Given the description of an element on the screen output the (x, y) to click on. 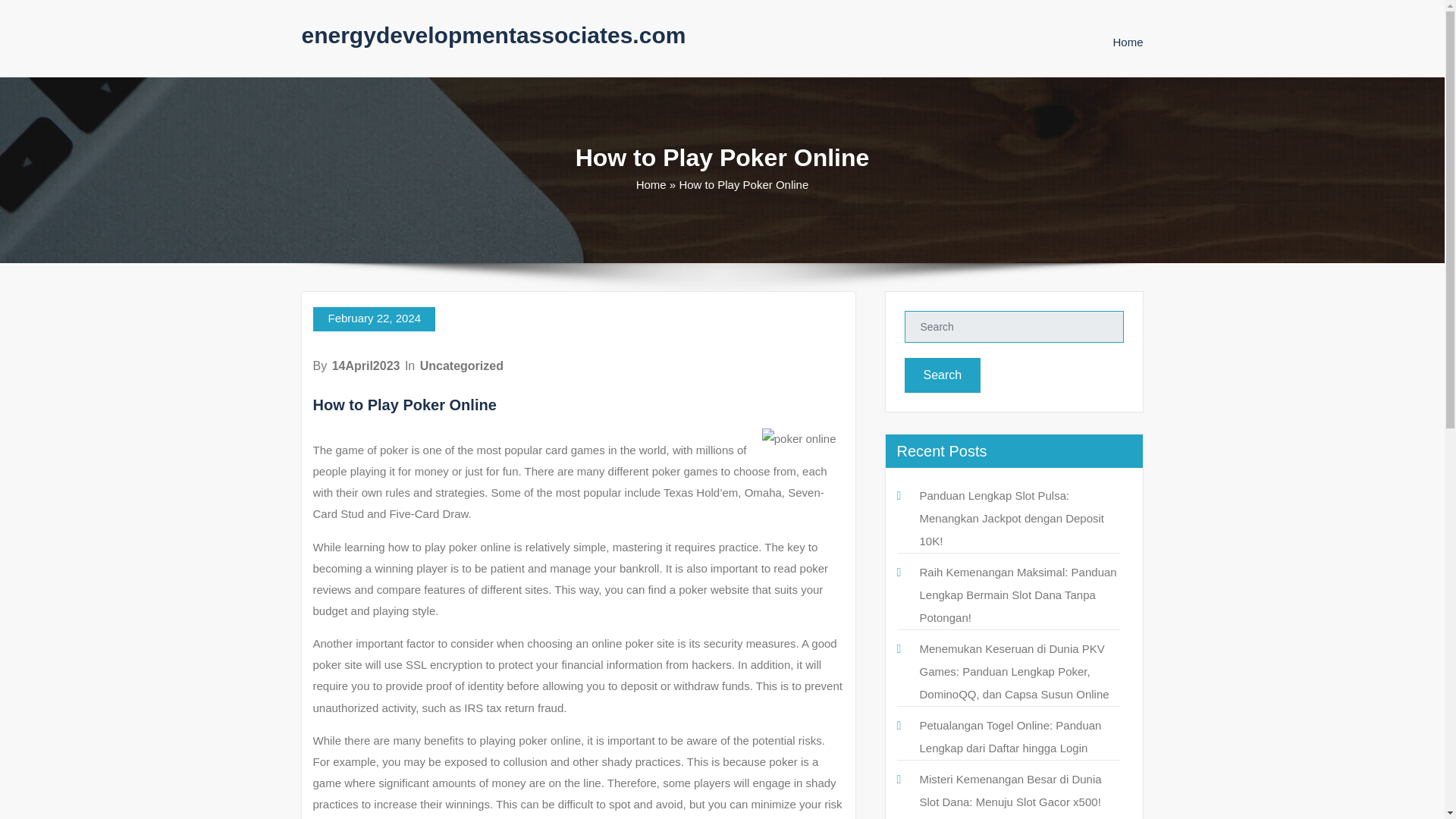
energydevelopmentassociates.com (493, 34)
14April2023 (365, 365)
February 22, 2024 (374, 319)
Search (941, 375)
Home (651, 184)
Home (1127, 41)
Uncategorized (462, 365)
Home (1127, 41)
